Given the description of an element on the screen output the (x, y) to click on. 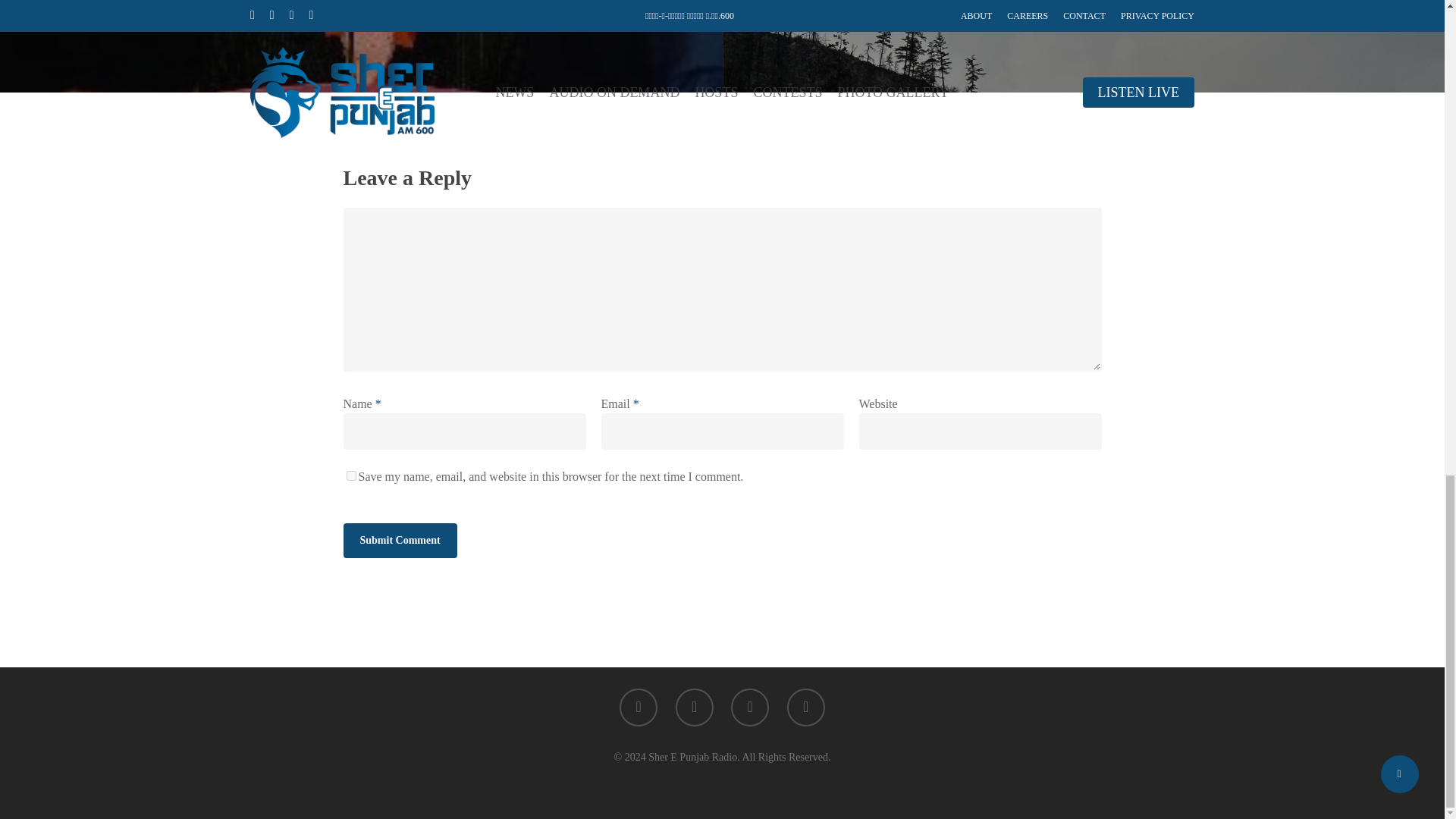
Submit Comment (399, 540)
yes (350, 475)
Submit Comment (399, 540)
